Given the description of an element on the screen output the (x, y) to click on. 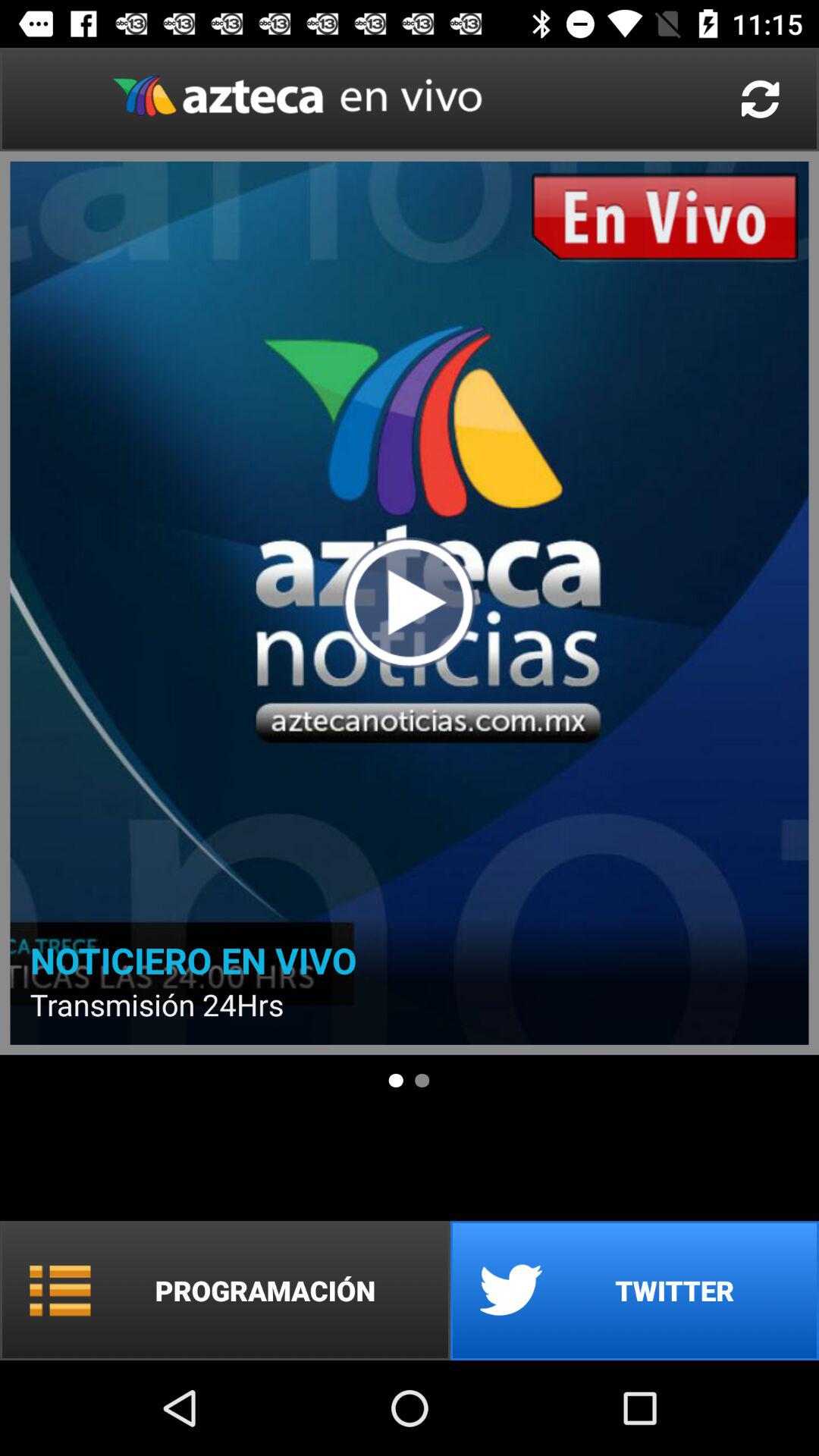
turn on the item at the bottom right corner (634, 1290)
